Given the description of an element on the screen output the (x, y) to click on. 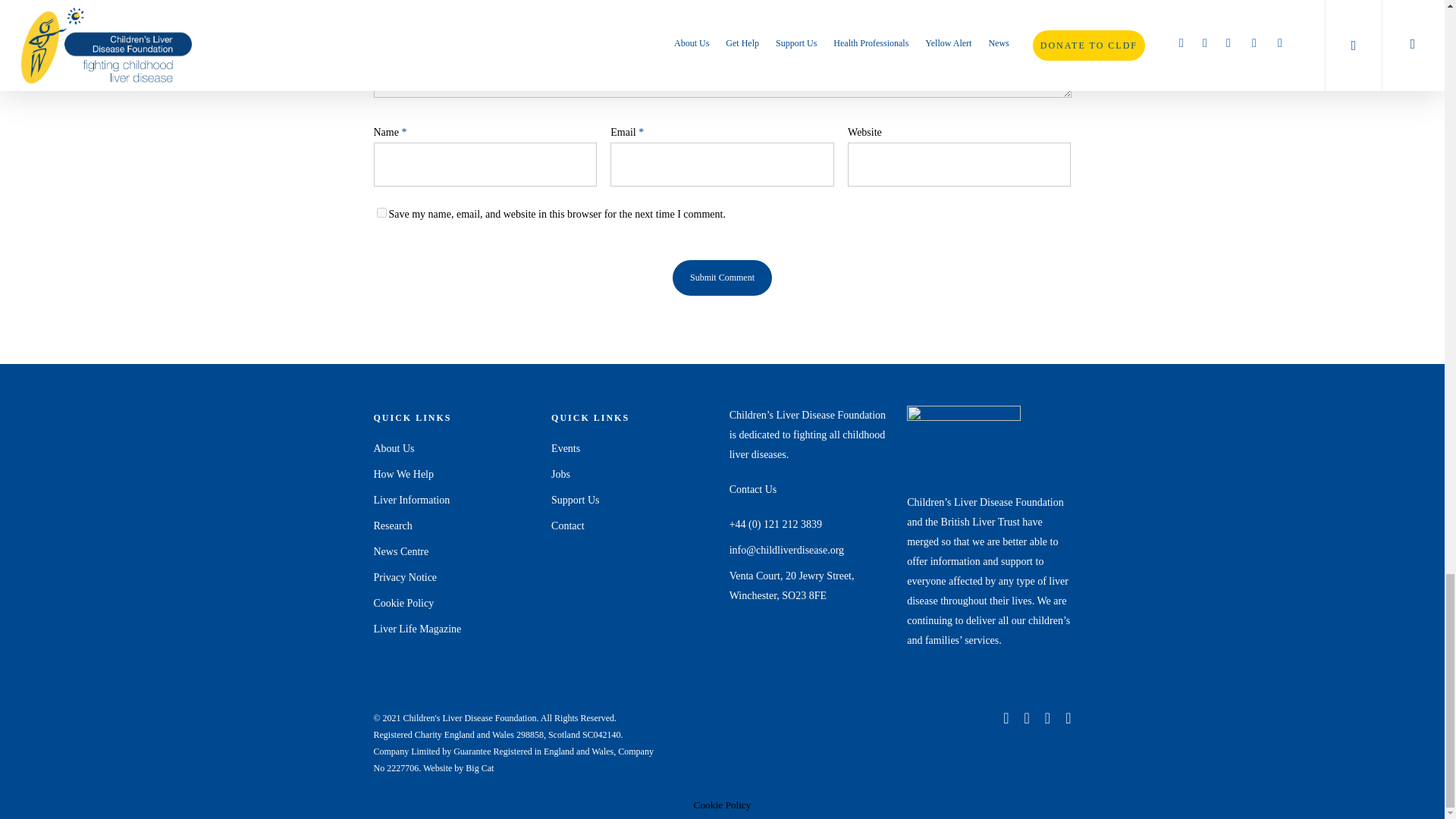
Submit Comment (721, 277)
yes (380, 212)
